Given the description of an element on the screen output the (x, y) to click on. 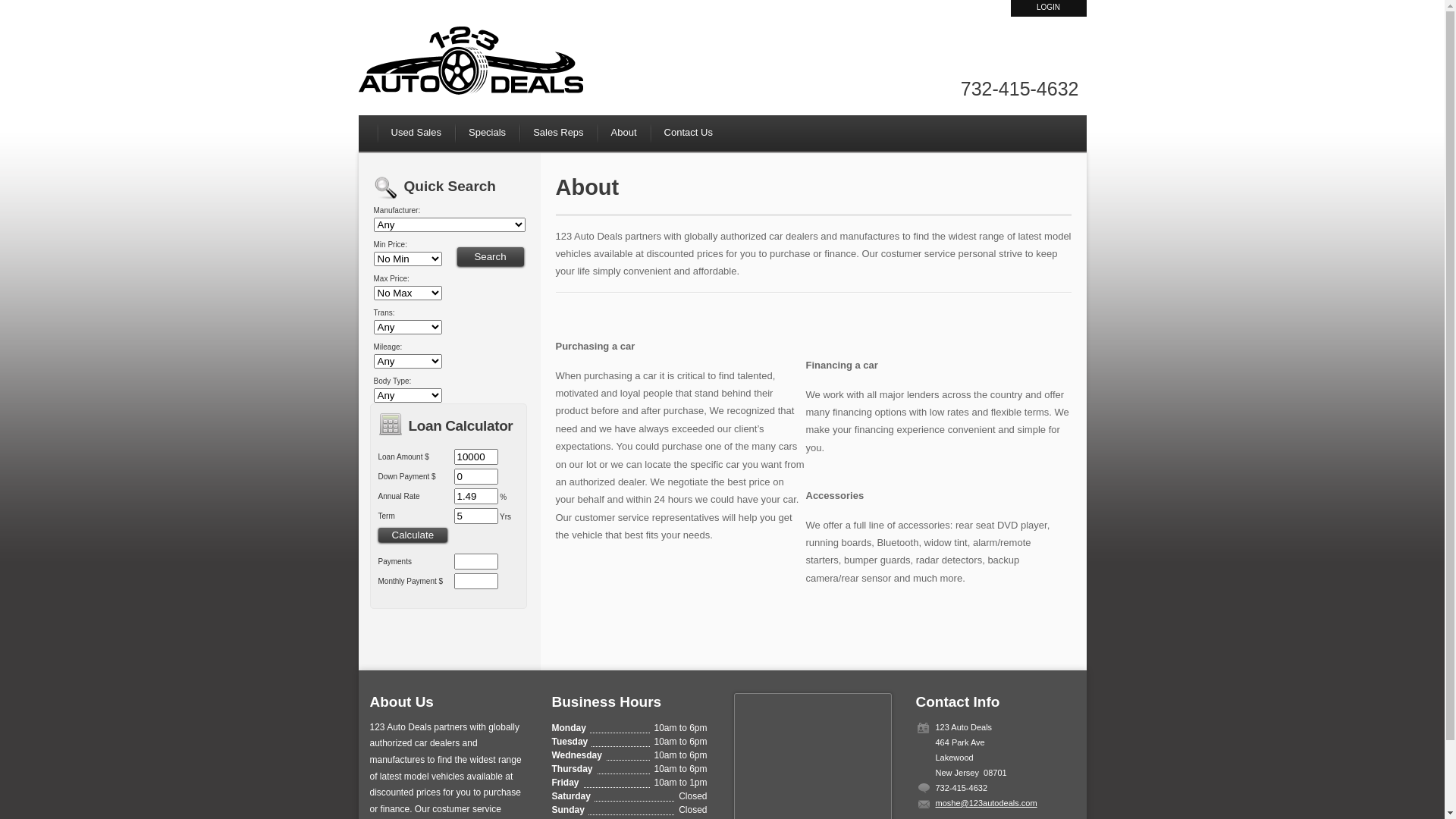
About Element type: text (623, 132)
Used Sales Element type: text (415, 132)
LOGIN Element type: text (1047, 8)
Specials Element type: text (486, 132)
Search Element type: text (489, 256)
Sales Reps Element type: text (558, 132)
123 Auto Deals Element type: text (471, 64)
Contact Us Element type: text (694, 132)
